Given the description of an element on the screen output the (x, y) to click on. 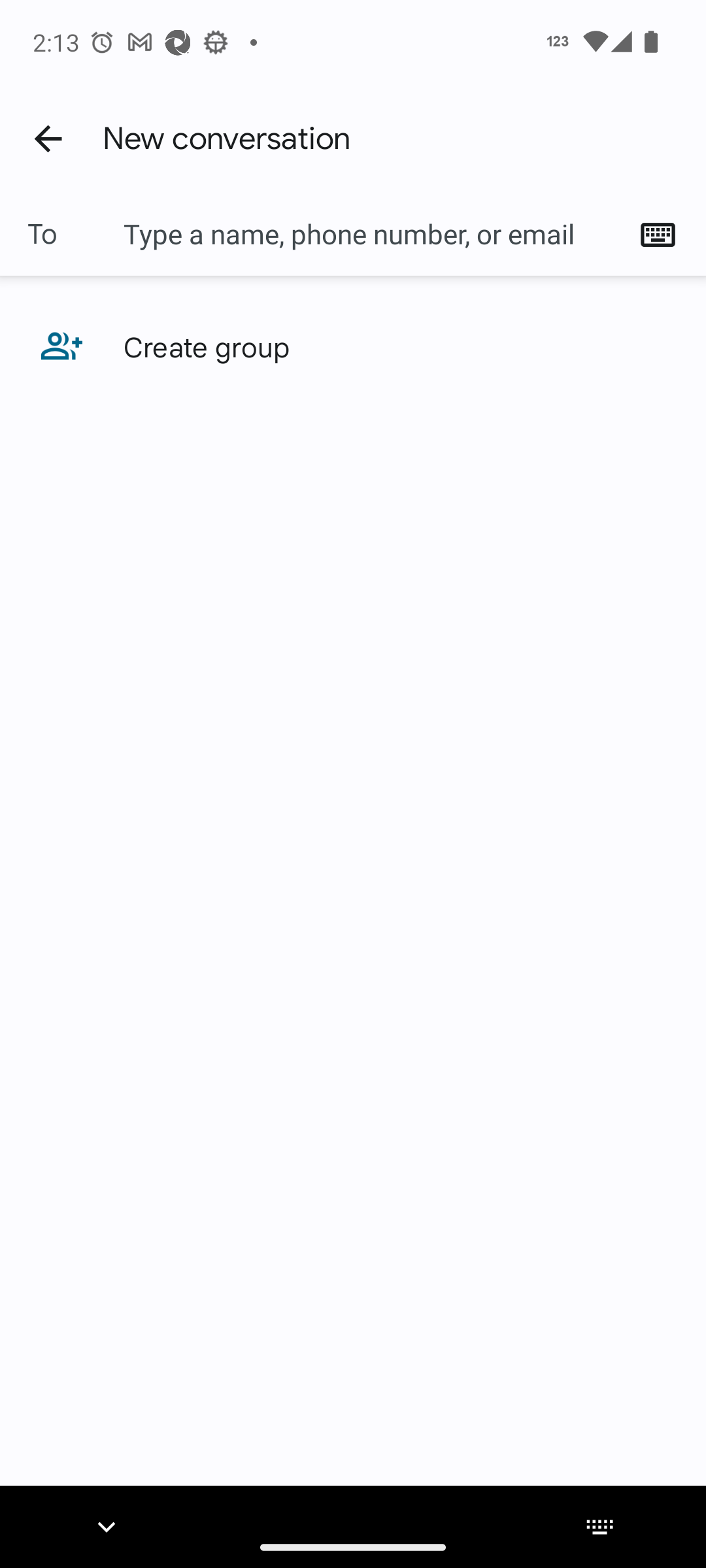
Navigate up (48, 137)
Type a name, phone number, or email (373, 233)
Switch between entering text and numbers (664, 233)
Create group (353, 346)
